Given the description of an element on the screen output the (x, y) to click on. 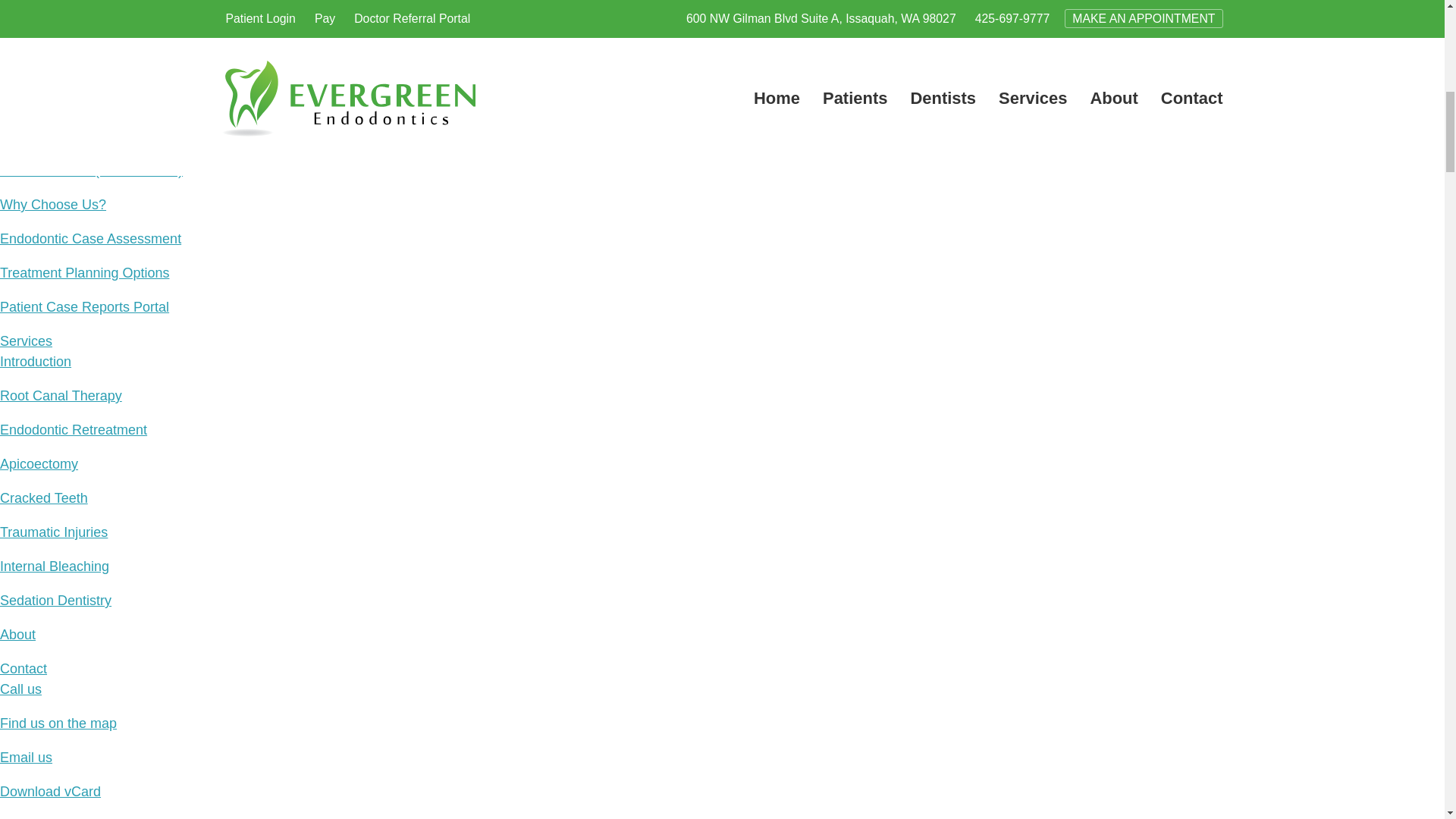
FAQ (13, 47)
Contact (23, 668)
Sedation Dentistry (56, 600)
Internal Bleaching (54, 566)
Privacy Policy (42, 13)
Email us (26, 757)
Call us (21, 688)
Introduction (35, 361)
Download vCard (50, 791)
Find us on the map (58, 723)
